Given the description of an element on the screen output the (x, y) to click on. 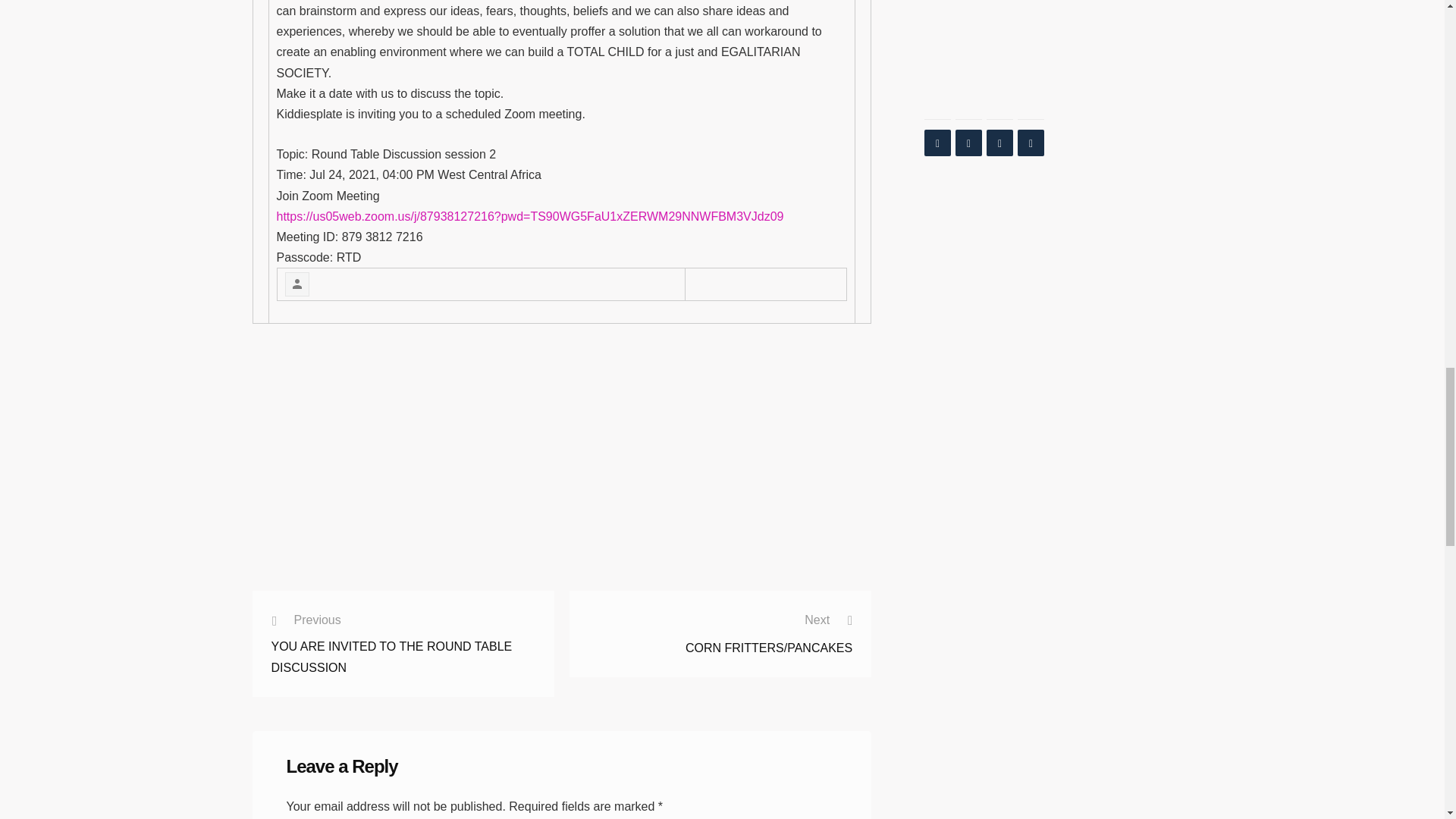
Advertisement (402, 635)
Advertisement (564, 475)
